Given the description of an element on the screen output the (x, y) to click on. 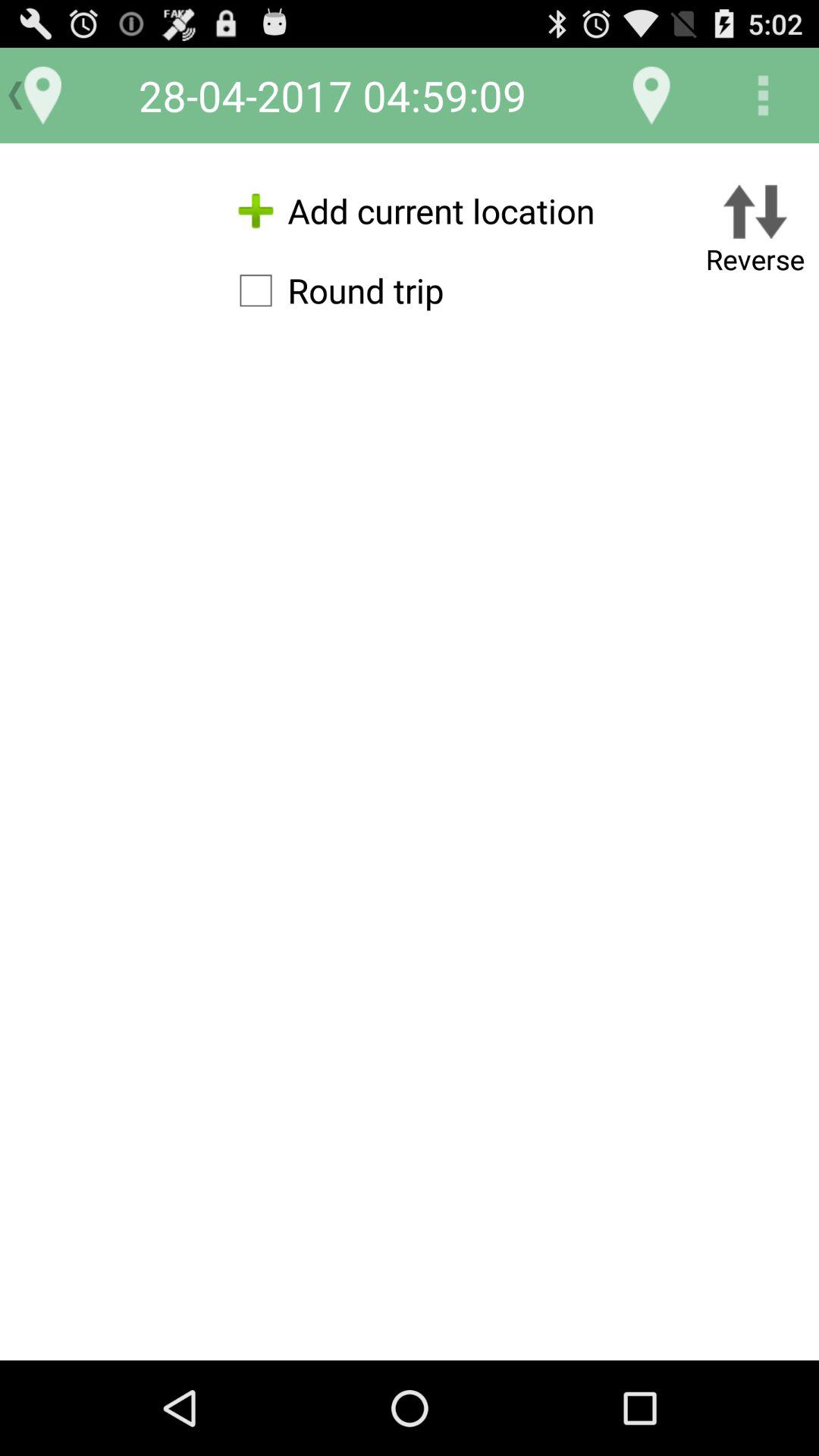
choose the icon next to the reverse button (409, 210)
